Given the description of an element on the screen output the (x, y) to click on. 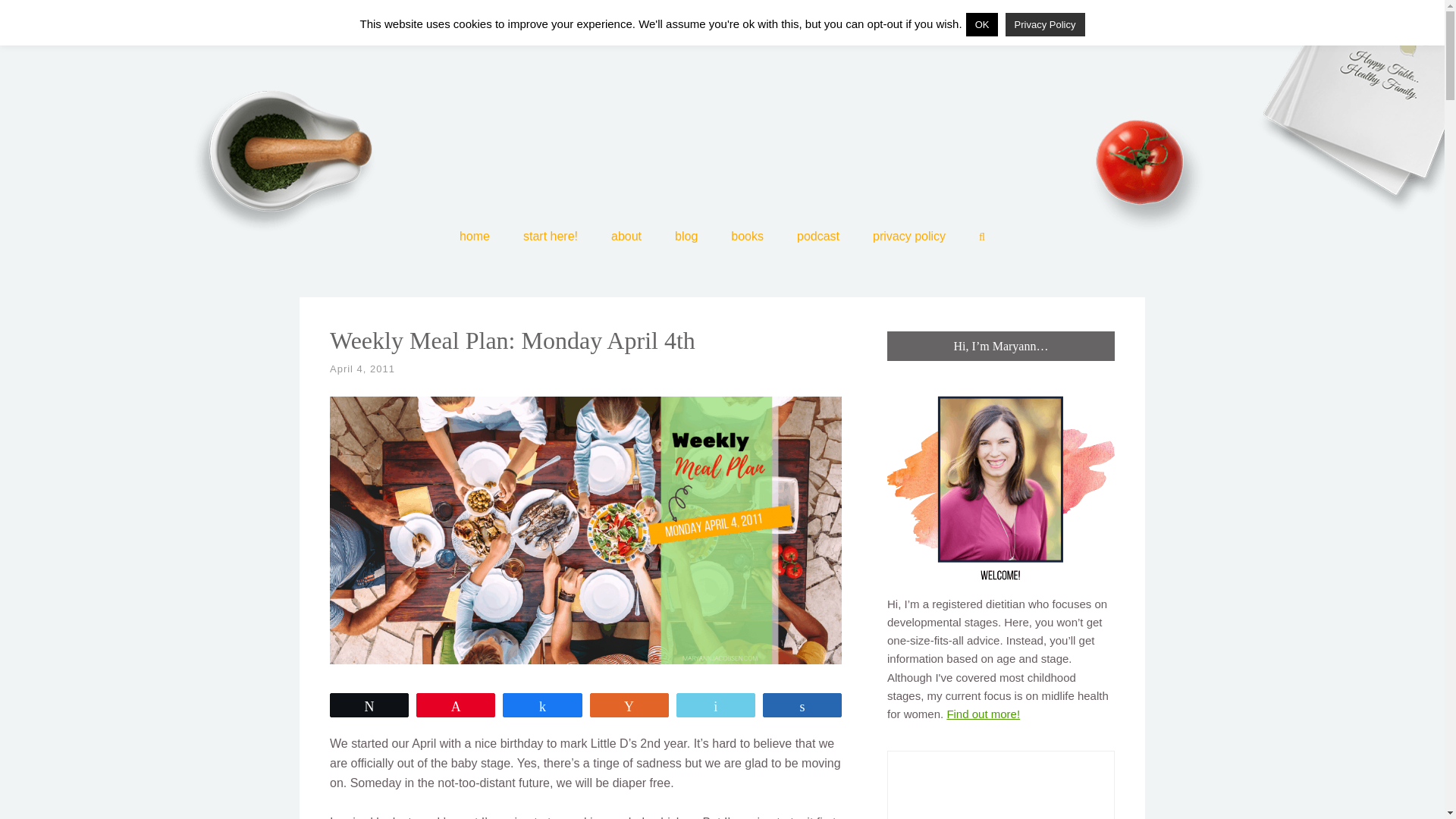
Permalink (362, 368)
home (474, 239)
books (746, 239)
about (626, 239)
start here! (550, 239)
Maryann Jacobsen (721, 110)
blog (686, 239)
